Given the description of an element on the screen output the (x, y) to click on. 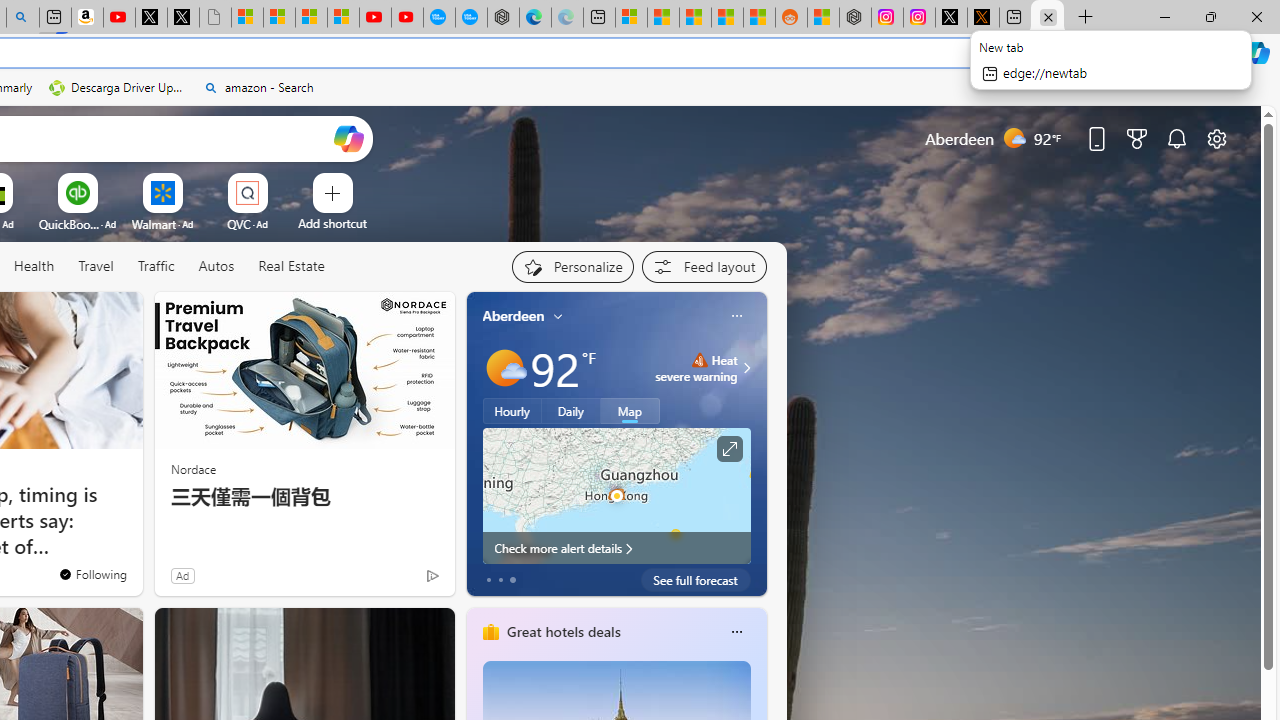
Class: icon-img (736, 632)
Traffic (155, 265)
tab-0 (488, 579)
Real Estate (290, 267)
Autos (216, 267)
